Given the description of an element on the screen output the (x, y) to click on. 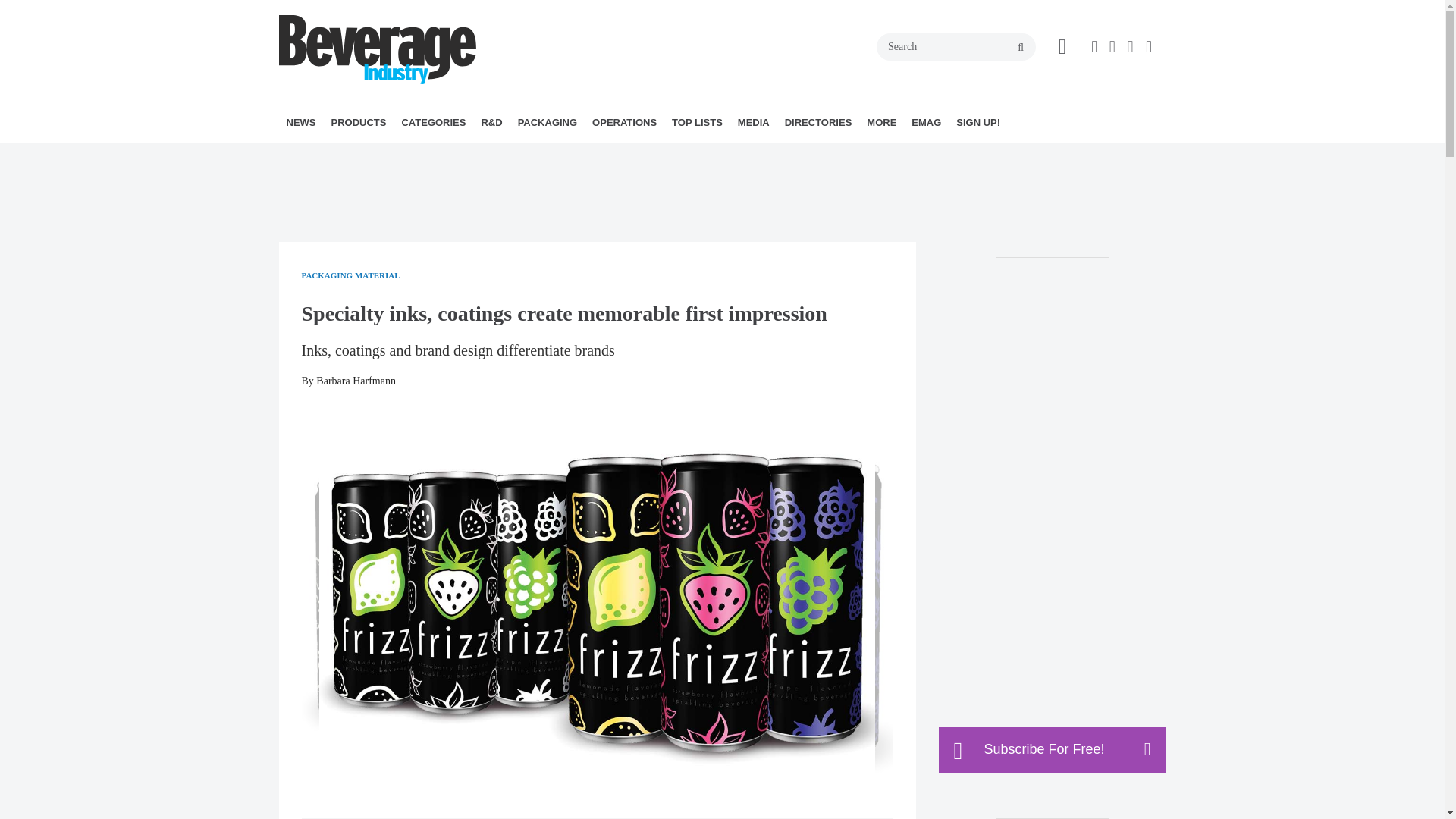
BOTTLED WATER (501, 155)
SPORTS DRINKS (525, 155)
INGREDIENT SPOTLIGHT (574, 155)
PRODUCTS (358, 122)
Search (955, 46)
TEA AND COFFEE (528, 155)
CANNABIS BEVERAGES (507, 155)
CARBONATED SOFT DRINKS (512, 155)
PLANT-BASED BEVERAGES (522, 155)
PACKAGING (548, 122)
